Given the description of an element on the screen output the (x, y) to click on. 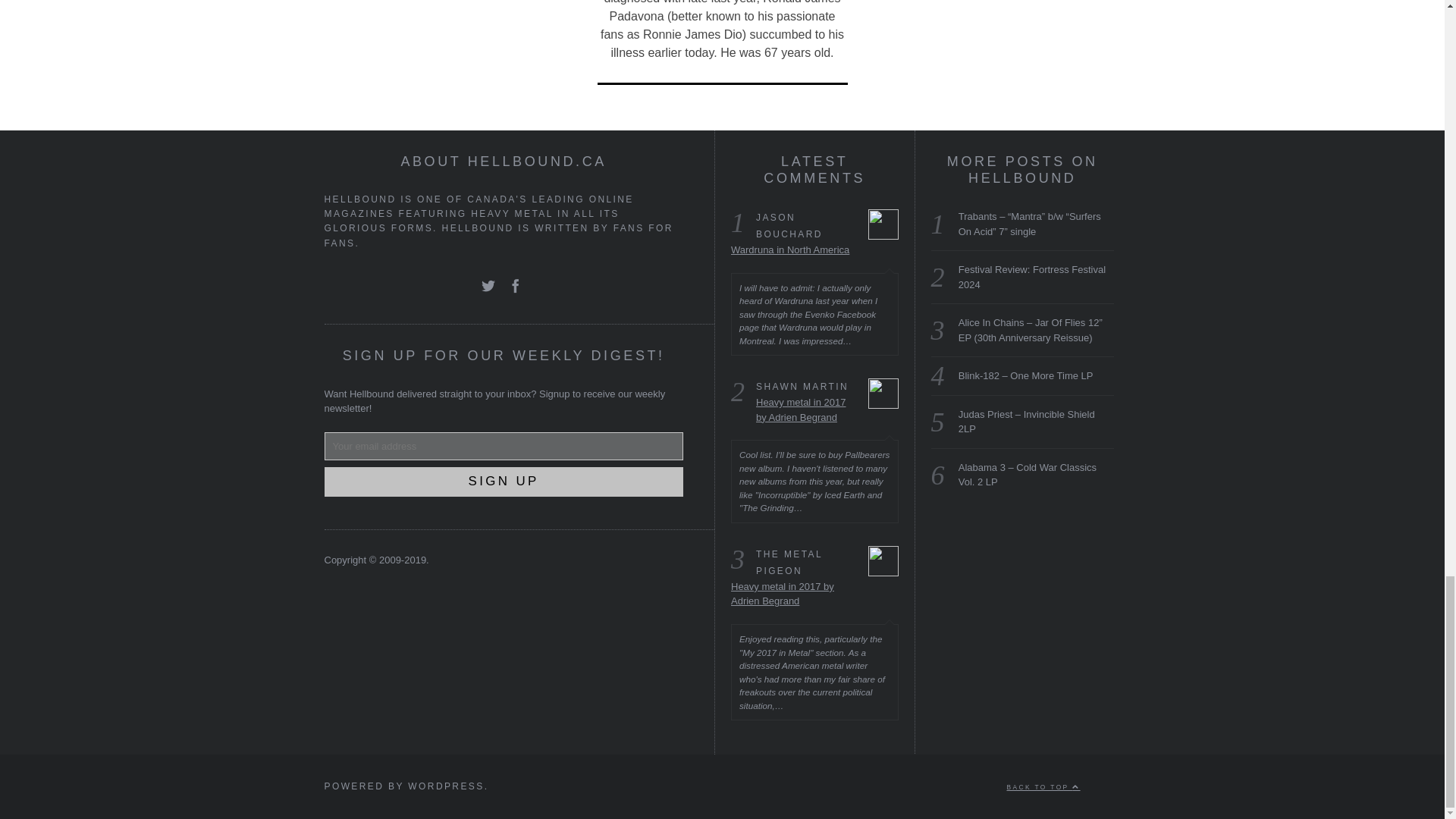
Sign up (503, 481)
